Given the description of an element on the screen output the (x, y) to click on. 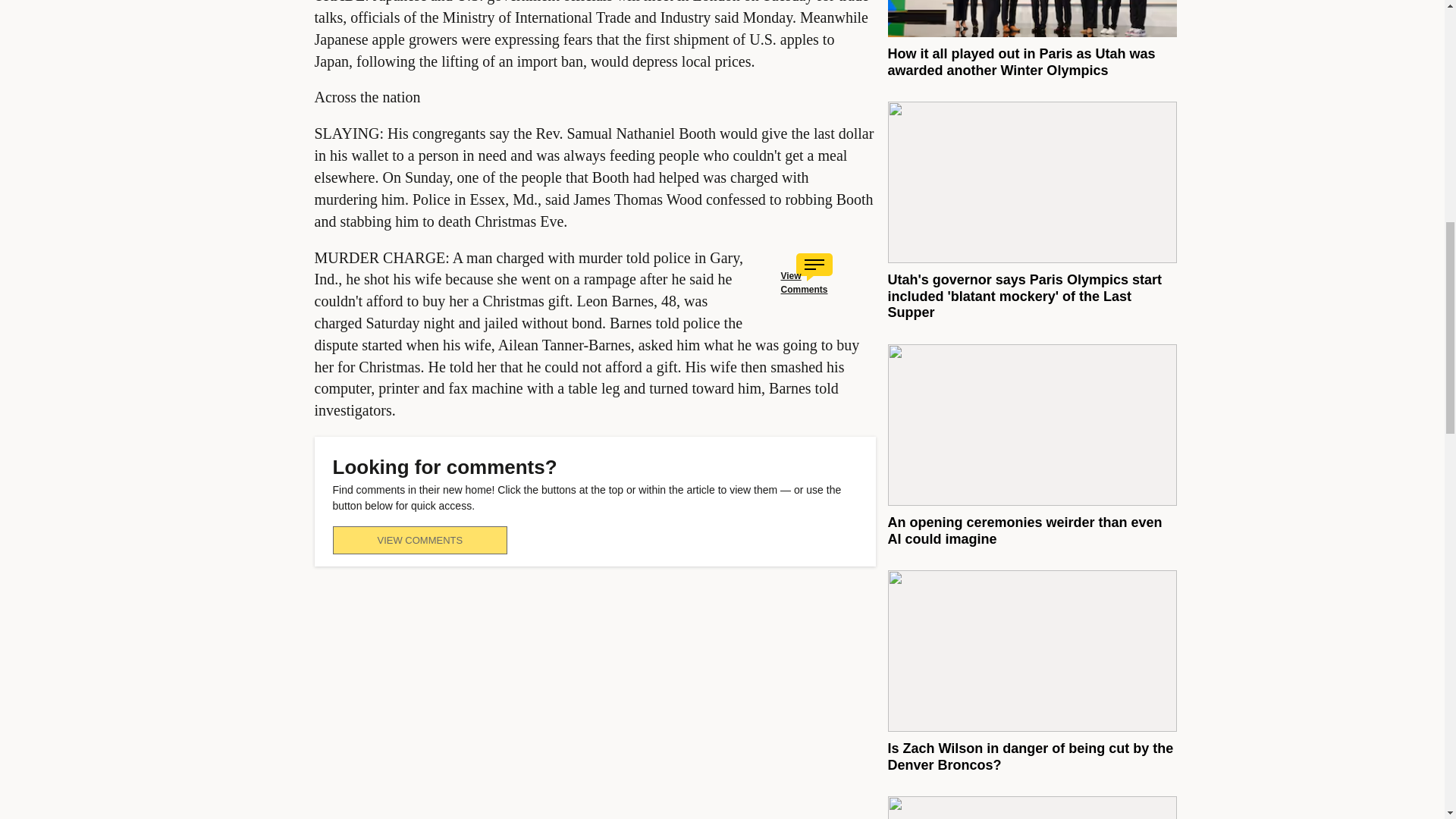
VIEW COMMENTS (418, 540)
Is Zach Wilson in danger of being cut by the Denver Broncos? (1029, 757)
An opening ceremonies weirder than even AI could imagine (1023, 531)
